Given the description of an element on the screen output the (x, y) to click on. 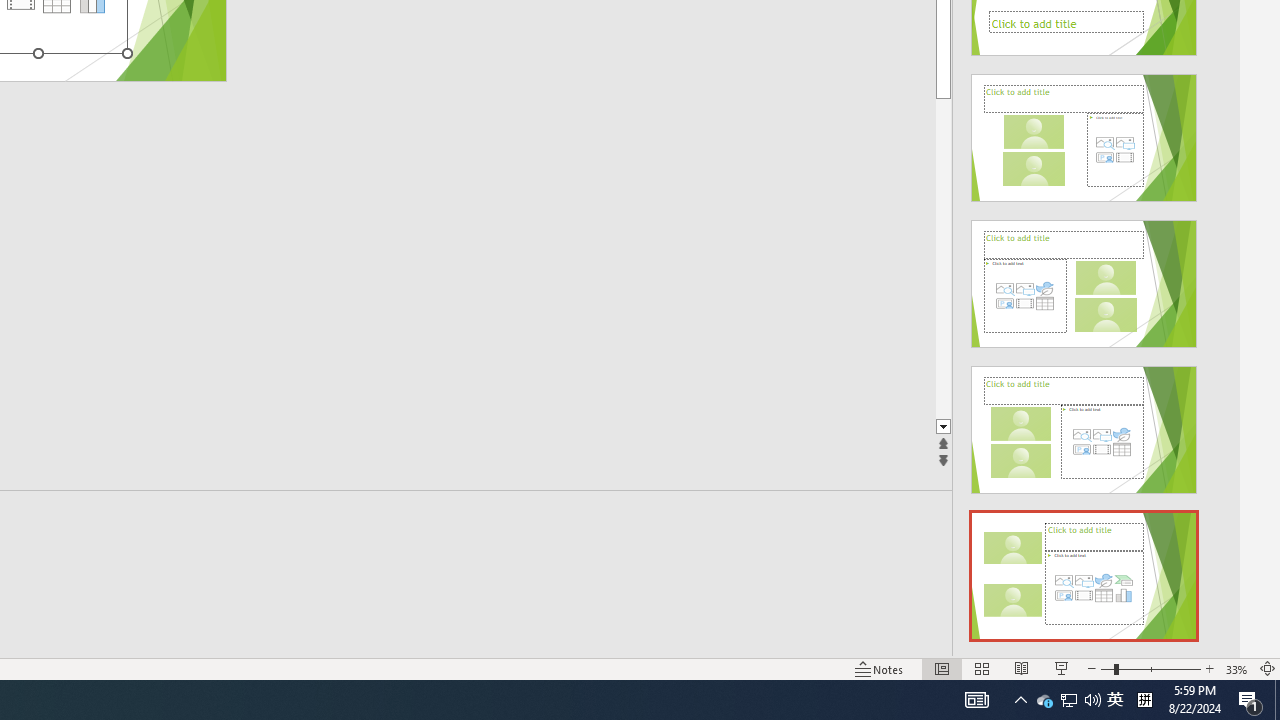
Zoom 33% (1236, 668)
